Given the description of an element on the screen output the (x, y) to click on. 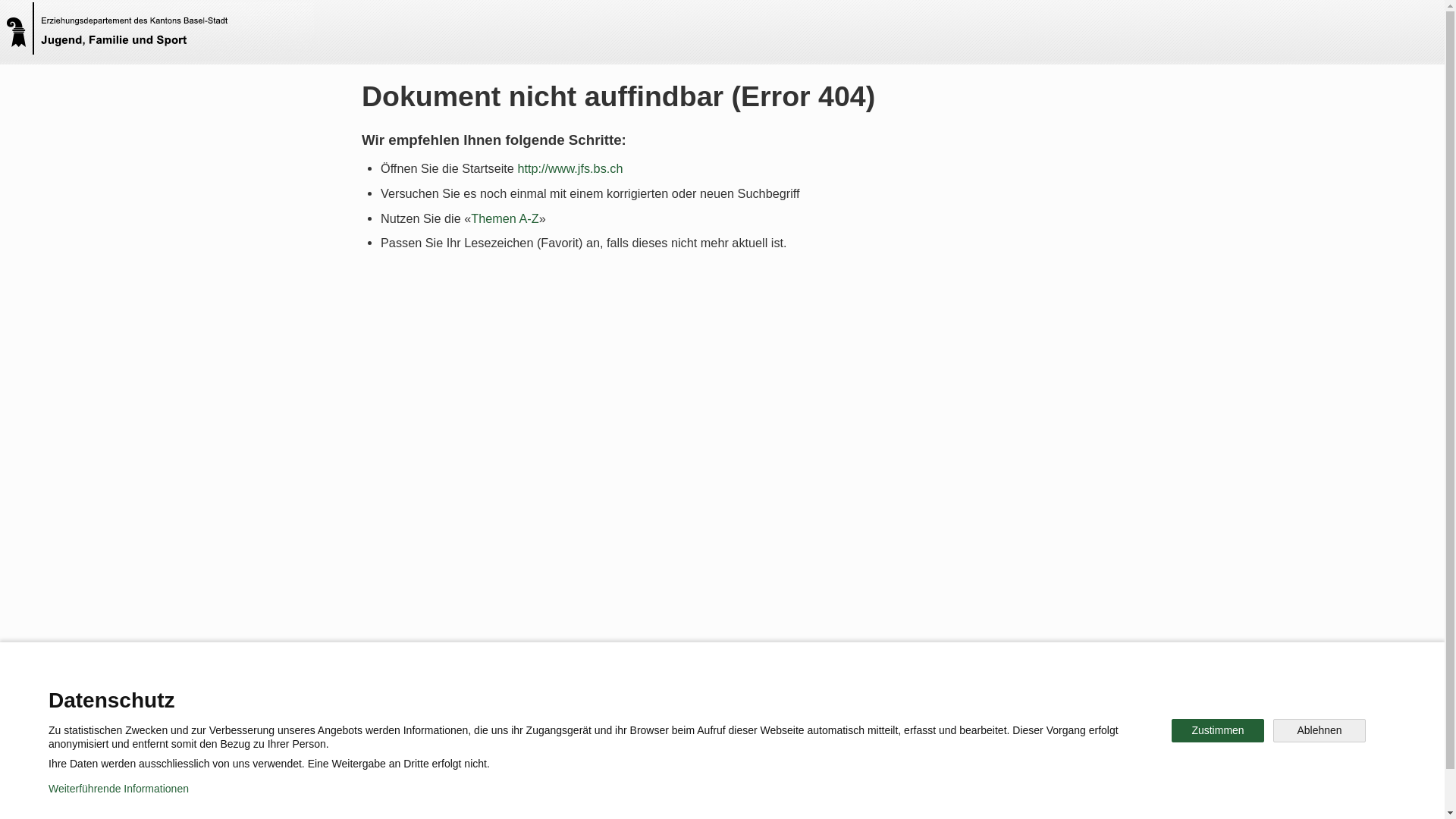
Zustimmen Element type: text (1217, 730)
Impressum Element type: text (648, 796)
Ablehnen Element type: text (1319, 730)
Zur mobilen Ansicht Element type: text (752, 796)
http://www.jfs.bs.ch Element type: text (569, 168)
Themen A-Z Element type: text (504, 217)
Nutzungsregelungen Element type: text (542, 796)
